Given the description of an element on the screen output the (x, y) to click on. 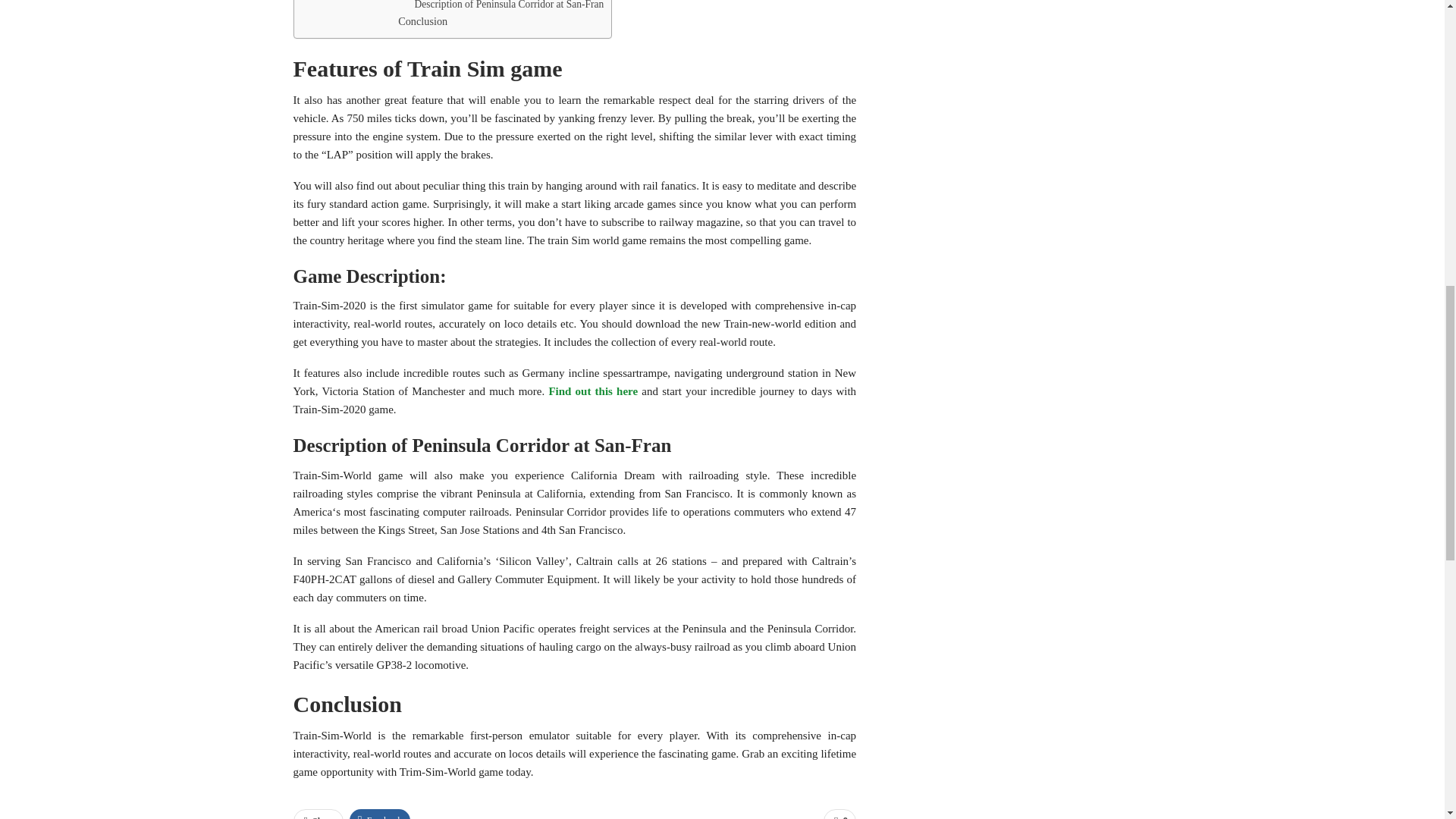
Description of Peninsula Corridor at San-Fran (509, 4)
Conclusion (421, 21)
Facebook (379, 814)
Description of Peninsula Corridor at San-Fran (509, 4)
0 (840, 814)
Find out this here (592, 390)
Conclusion (421, 21)
